Given the description of an element on the screen output the (x, y) to click on. 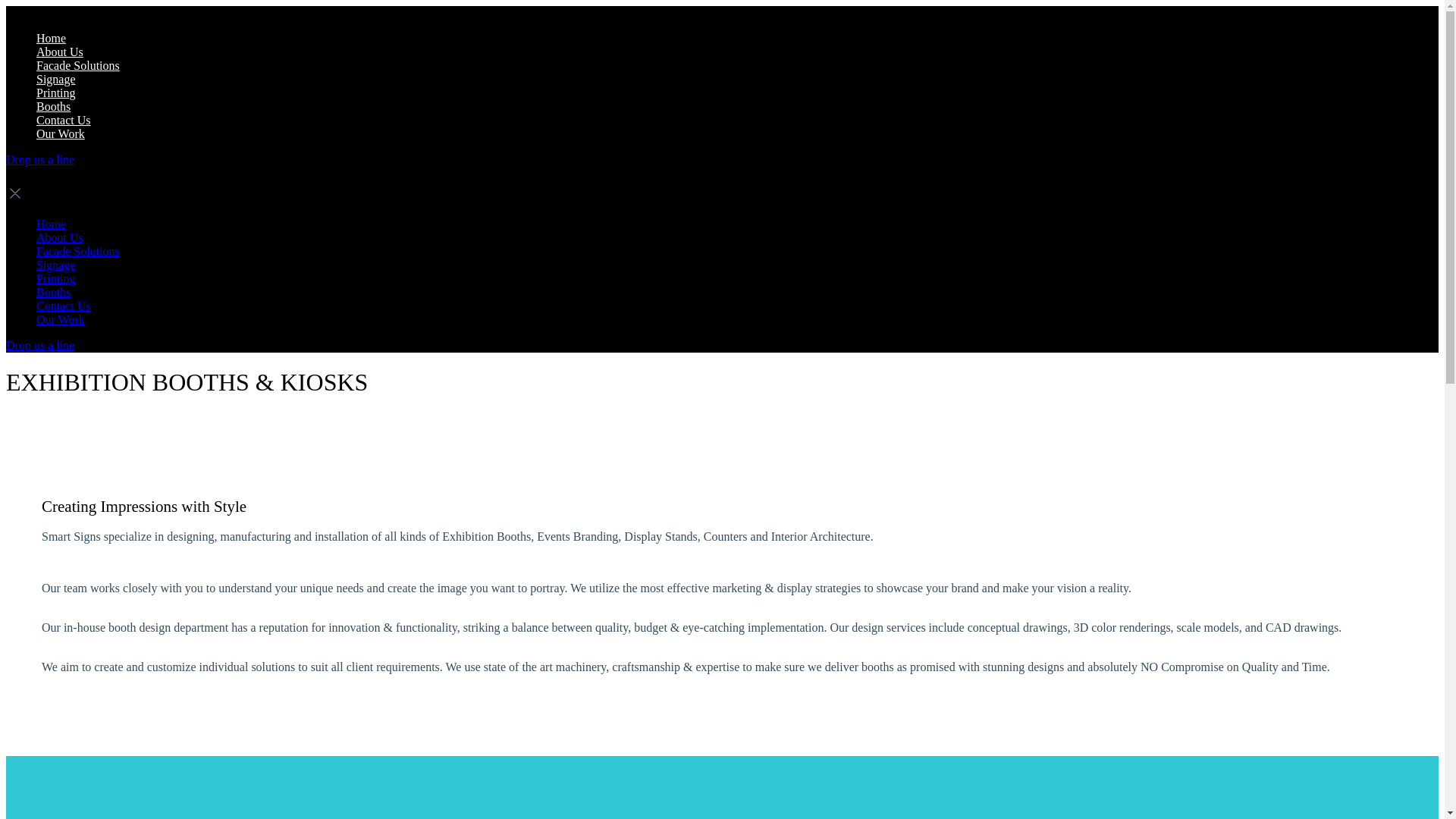
Facade Solutions (77, 250)
Contact Us (63, 305)
Our Work (60, 318)
Booths (52, 291)
Contact Us (63, 119)
Signage (55, 78)
About Us (59, 237)
Our Work (60, 133)
About Us (59, 51)
Home (50, 223)
